Given the description of an element on the screen output the (x, y) to click on. 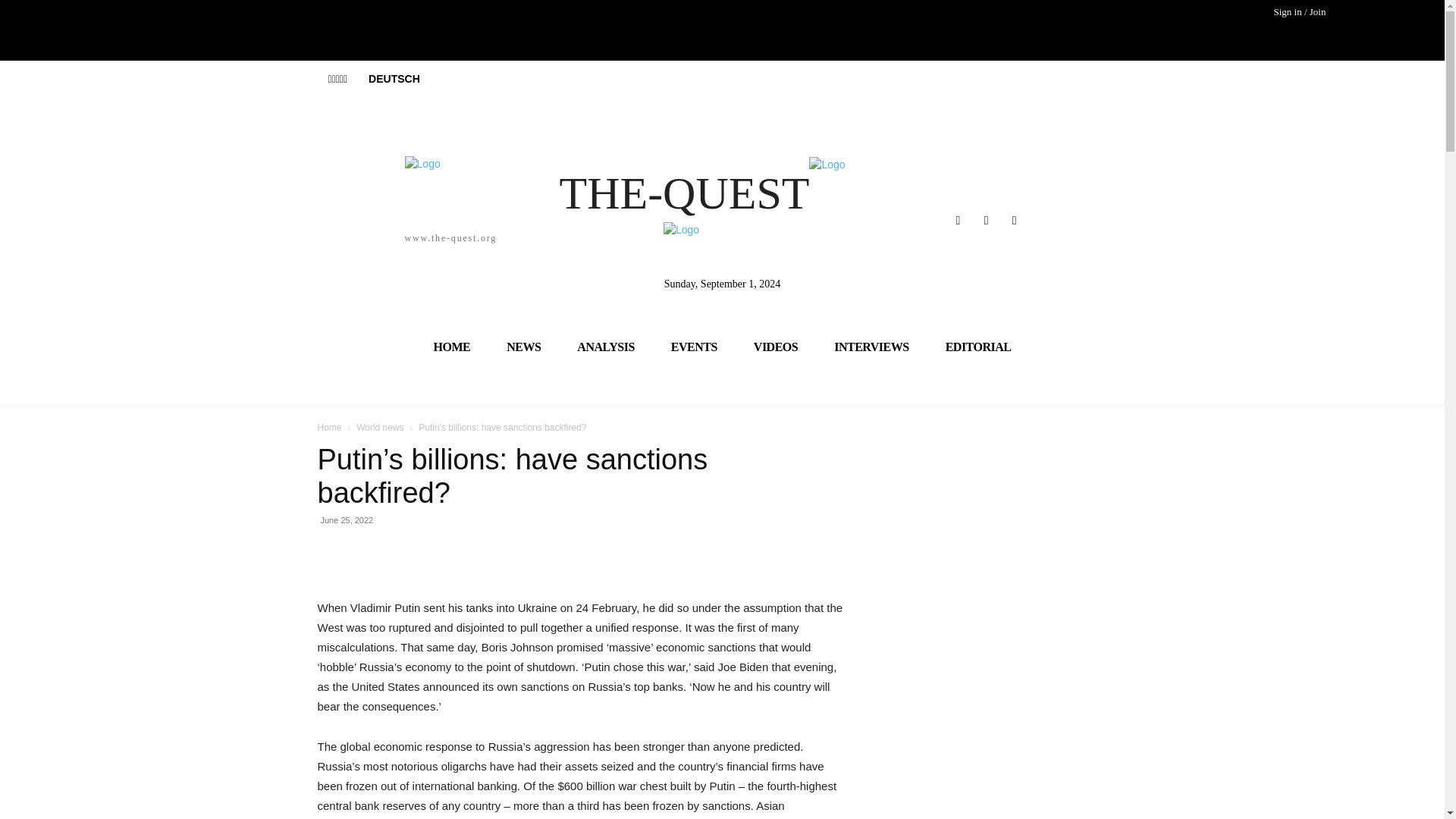
THE-QUEST (721, 187)
INTERVIEWS (870, 346)
View all posts in World news (379, 427)
www.the-quest.org (306, 199)
Youtube (1014, 219)
HOME (451, 346)
VIDEOS (775, 346)
NEWS (523, 346)
Facebook (957, 219)
ANALYSIS (605, 346)
